Given the description of an element on the screen output the (x, y) to click on. 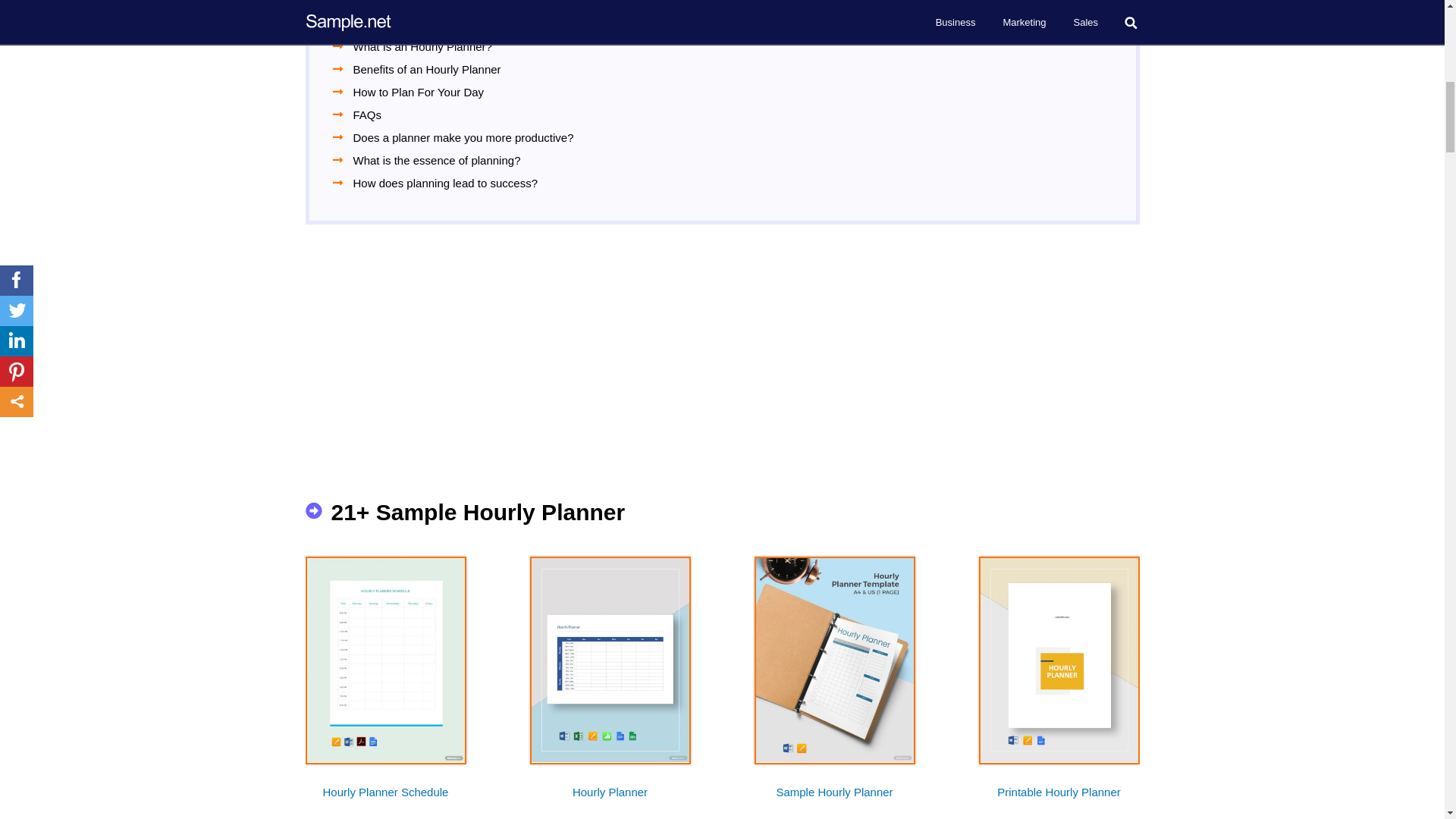
How to Plan For Your Day (418, 91)
Hourly Planner Schedule (384, 799)
What Is an Hourly Planner? (422, 46)
FAQs (367, 114)
How does planning lead to success? (445, 182)
What is the essence of planning? (437, 159)
Benefits of an Hourly Planner (426, 68)
Printable Hourly Planner (1058, 799)
Does a planner make you more productive? (463, 137)
Sample Hourly Planner (834, 799)
